Given the description of an element on the screen output the (x, y) to click on. 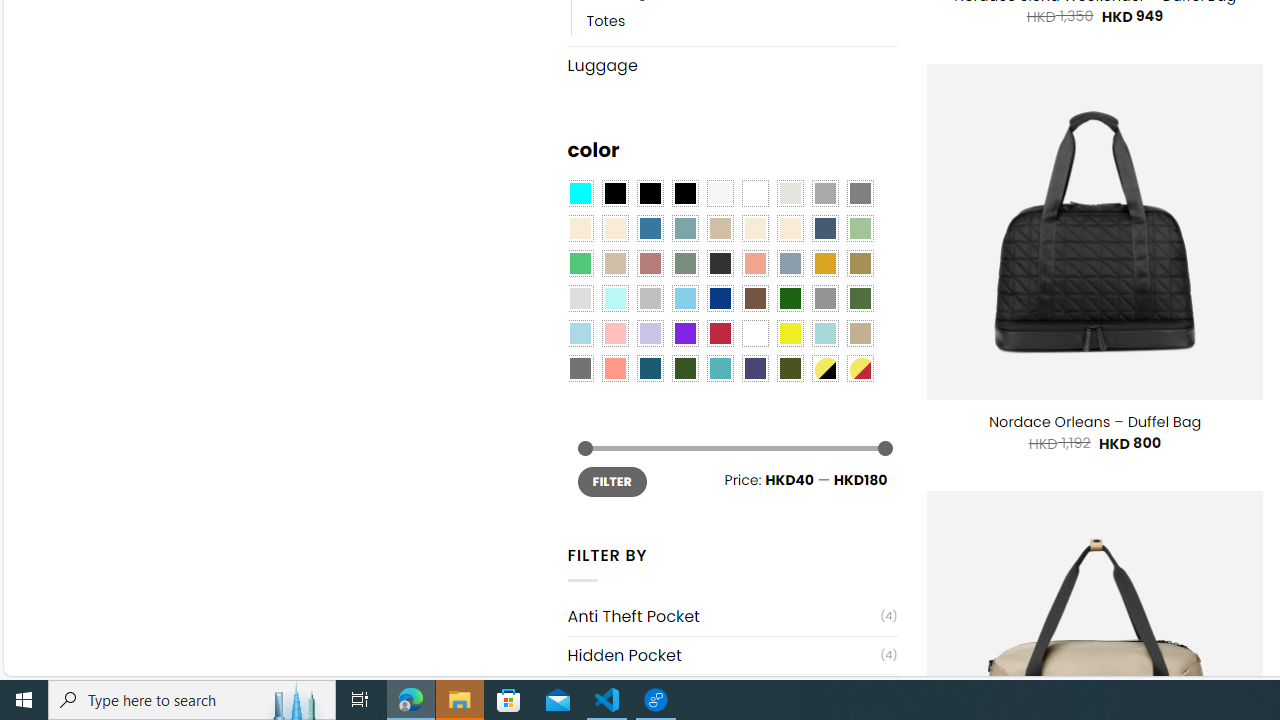
Peach Pink (614, 368)
Coral (755, 264)
Army Green (789, 368)
Hidden Pocket(4) (732, 655)
Light Green (859, 228)
Gold (824, 264)
Pink (614, 334)
Light Blue (579, 334)
Forest (684, 368)
Cream (789, 228)
Totes (742, 20)
Kelp (859, 264)
Purple Navy (755, 368)
All Black (614, 193)
